Given the description of an element on the screen output the (x, y) to click on. 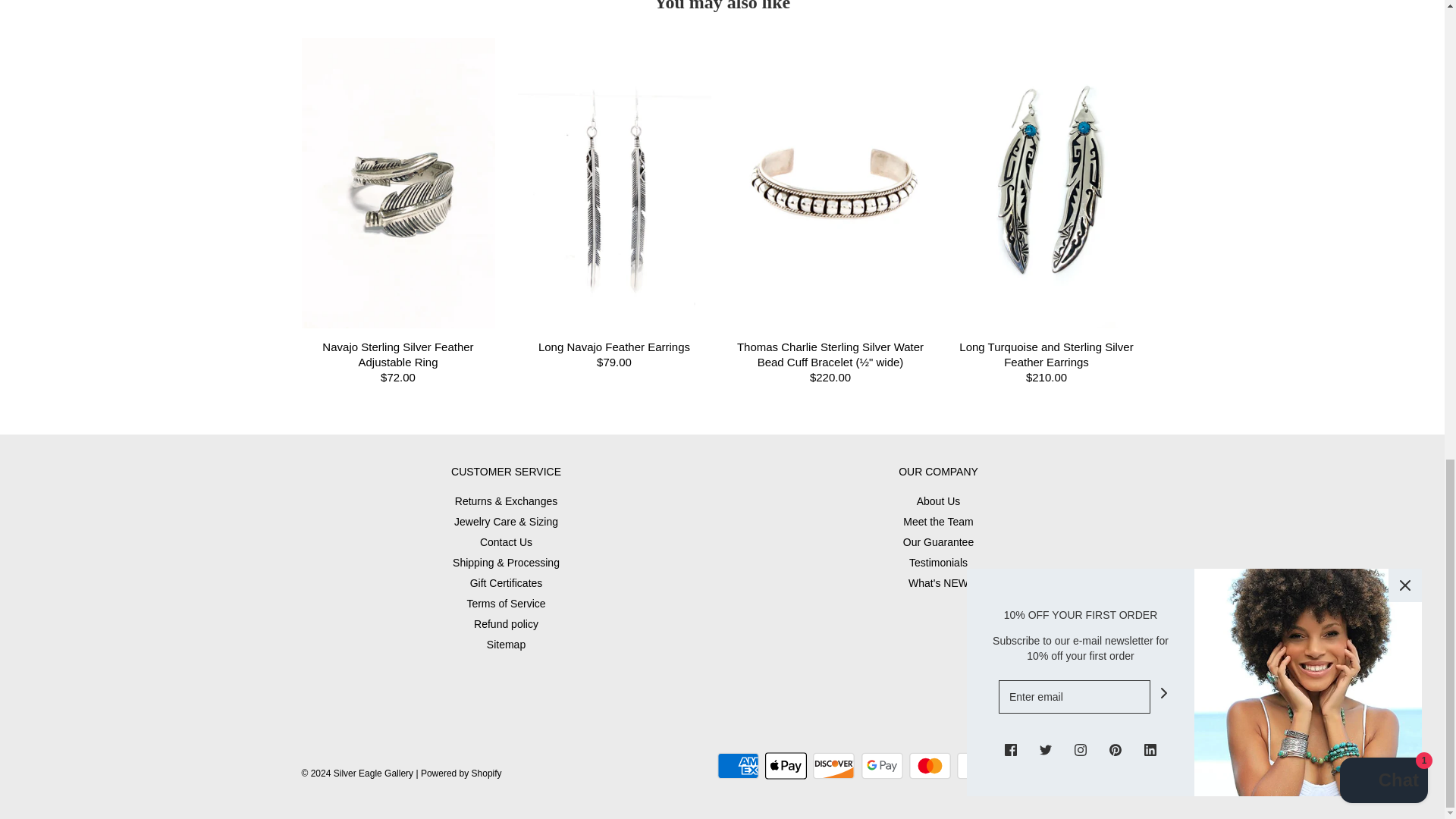
Discover (833, 766)
Apple Pay (785, 766)
Google Pay (881, 766)
American Express (737, 766)
